Given the description of an element on the screen output the (x, y) to click on. 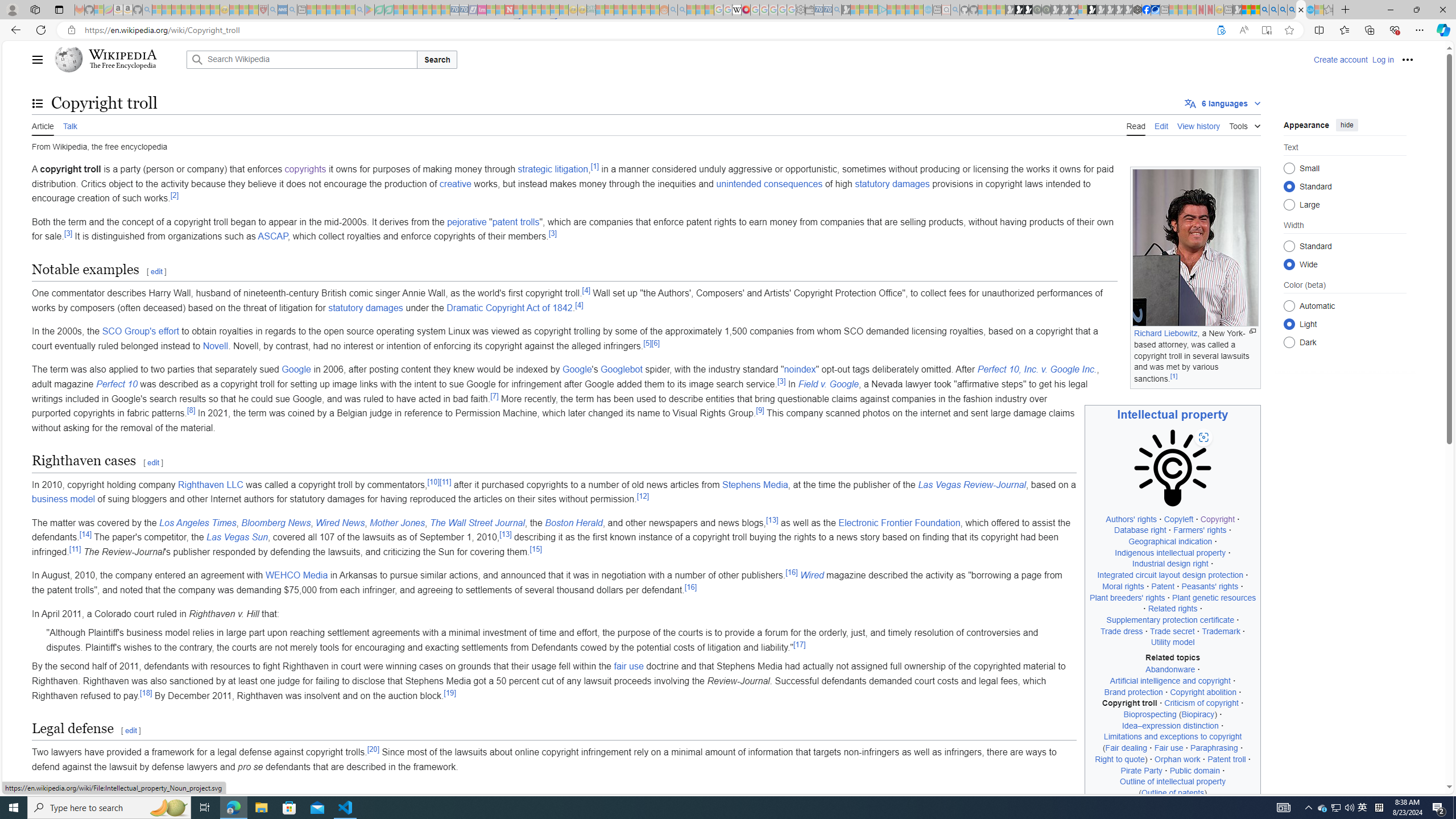
pejorative (466, 221)
WEHCO Media (295, 575)
Abandonware (1170, 669)
Las Vegas Review-Journal (971, 484)
Toggle the table of contents (37, 103)
Nordace - Cooler Bags (1137, 9)
Googlebot (620, 369)
Class: sidebar-image (1172, 468)
